Given the description of an element on the screen output the (x, y) to click on. 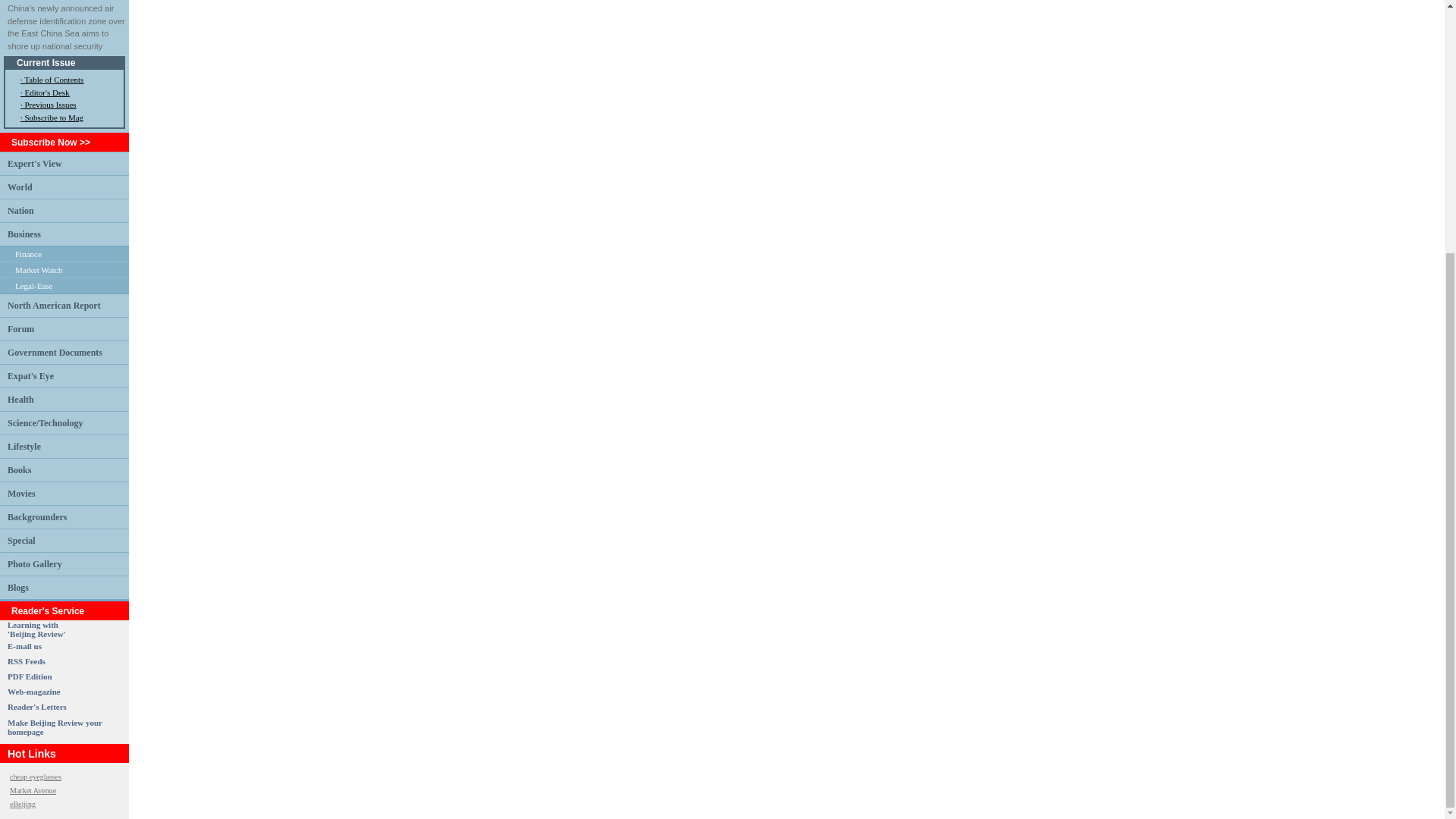
Lifestyle (23, 446)
Make Beijing Review your homepage (54, 727)
Market Watch (36, 628)
Legal-Ease (38, 269)
RSS Feeds (33, 285)
World (26, 660)
Previous Issues (19, 186)
cheap eyeglasses (49, 103)
Special (35, 777)
Health (20, 540)
Reader's Letters (20, 398)
Business (36, 706)
Expert's View (23, 234)
